Given the description of an element on the screen output the (x, y) to click on. 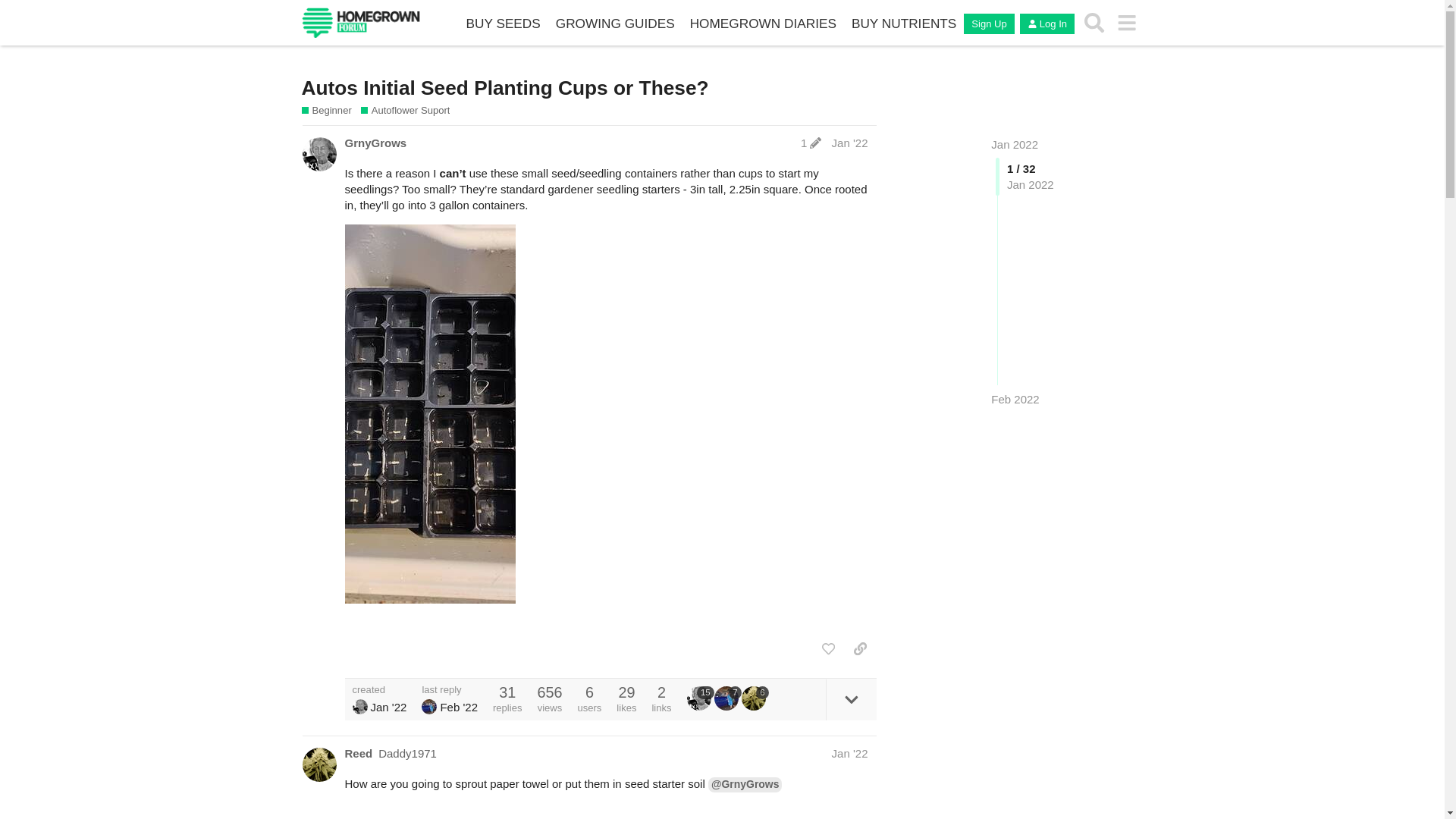
How to grow marijuana with Kyle Kushman (615, 23)
The Best Nutrients for your Plants (903, 23)
GROW LIKE A PRO (763, 23)
Jan 2022 (1014, 144)
search topics, posts, users, or categories (1094, 22)
HOMEGROWN DIARIES (763, 23)
GrnyGrows (359, 706)
Feb 2022 (1015, 399)
Feb 2022 (1015, 399)
